Given the description of an element on the screen output the (x, y) to click on. 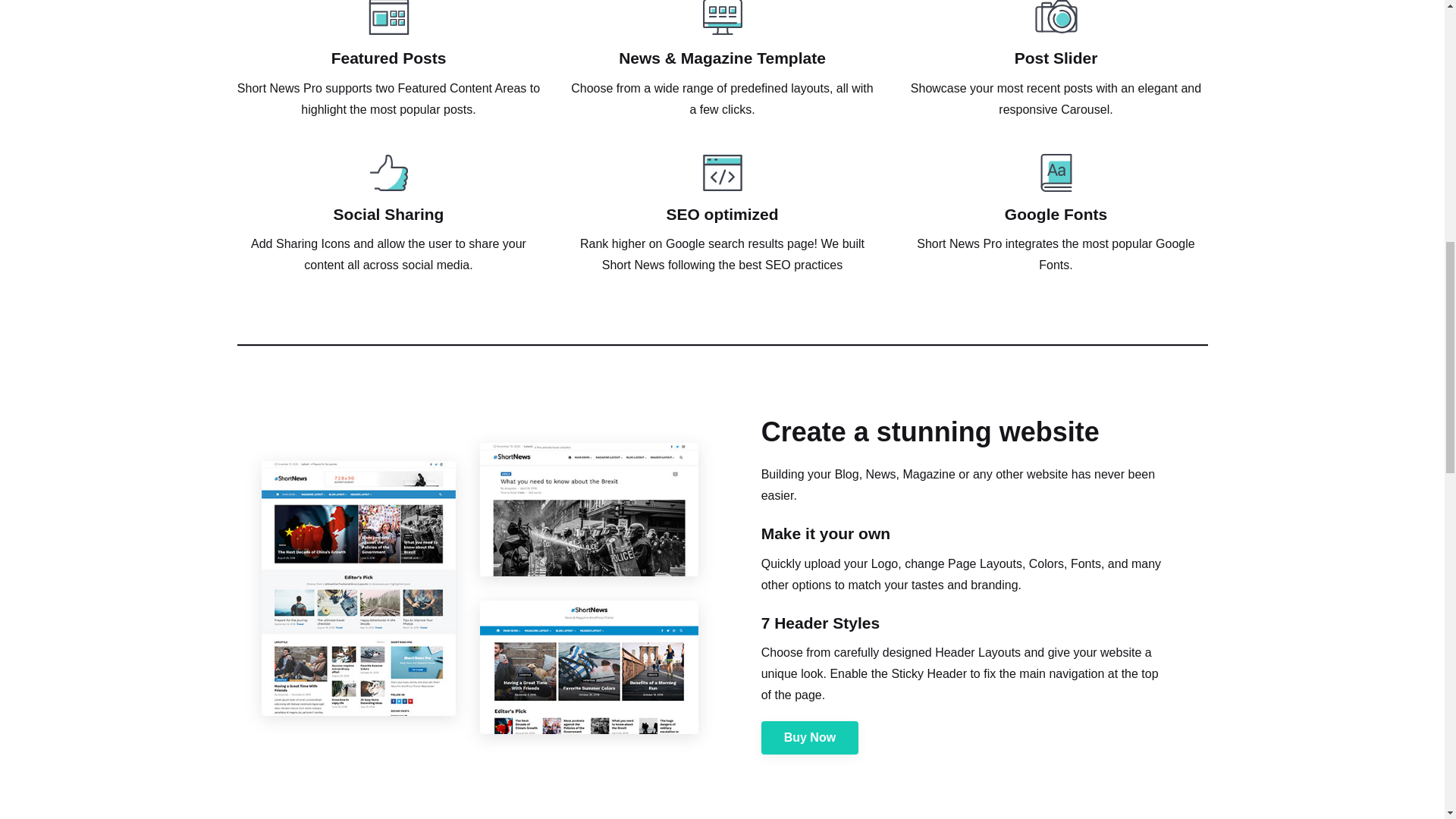
Buy Now (810, 737)
